Given the description of an element on the screen output the (x, y) to click on. 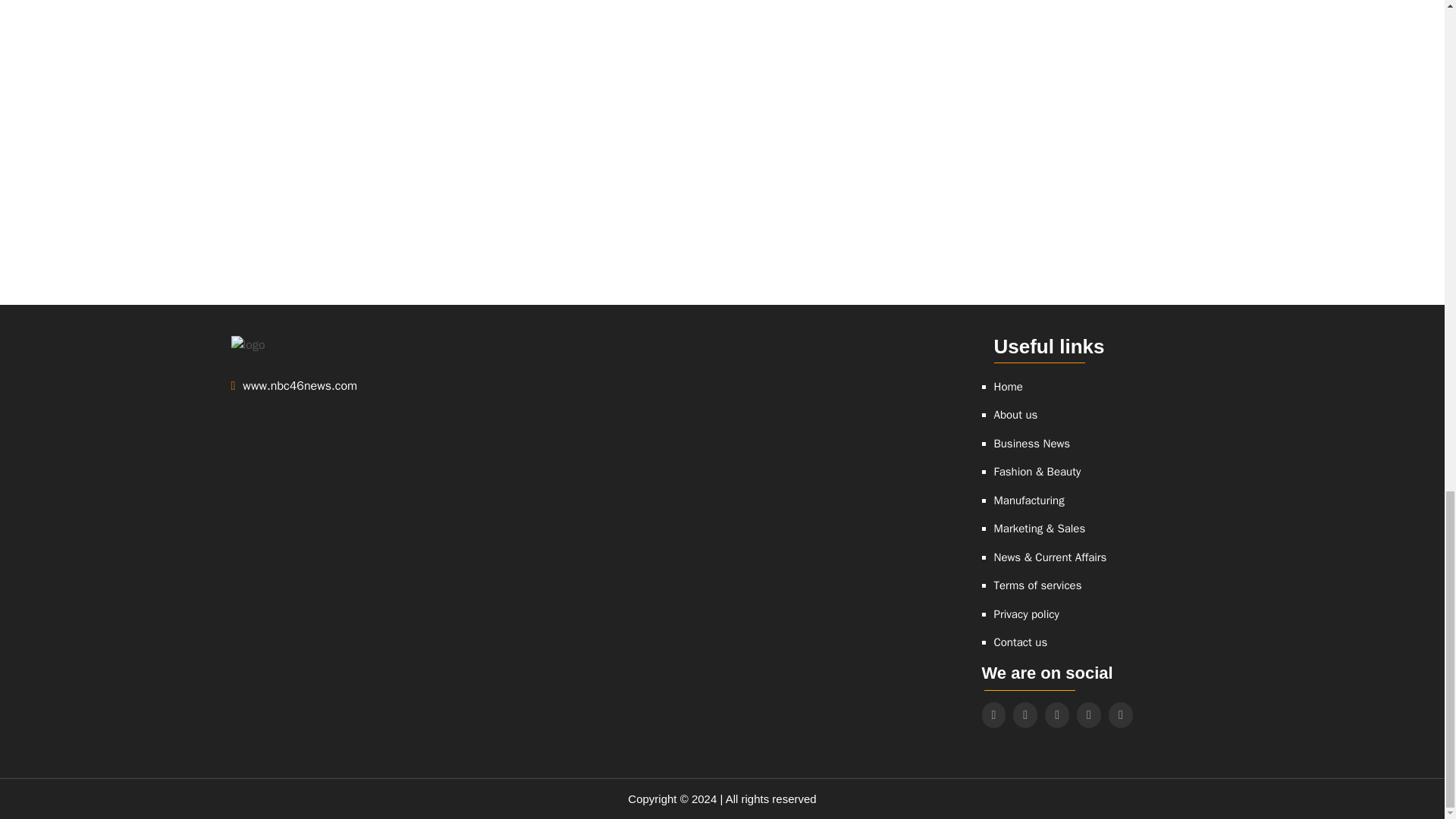
Privacy policy (1025, 614)
Contact us (1019, 642)
About us (1014, 414)
Home (1007, 386)
Terms of services (1036, 585)
www.nbc46news.com (346, 385)
market overview TradingView widget (1055, 115)
Business News (1031, 443)
Manufacturing (1028, 500)
